Given the description of an element on the screen output the (x, y) to click on. 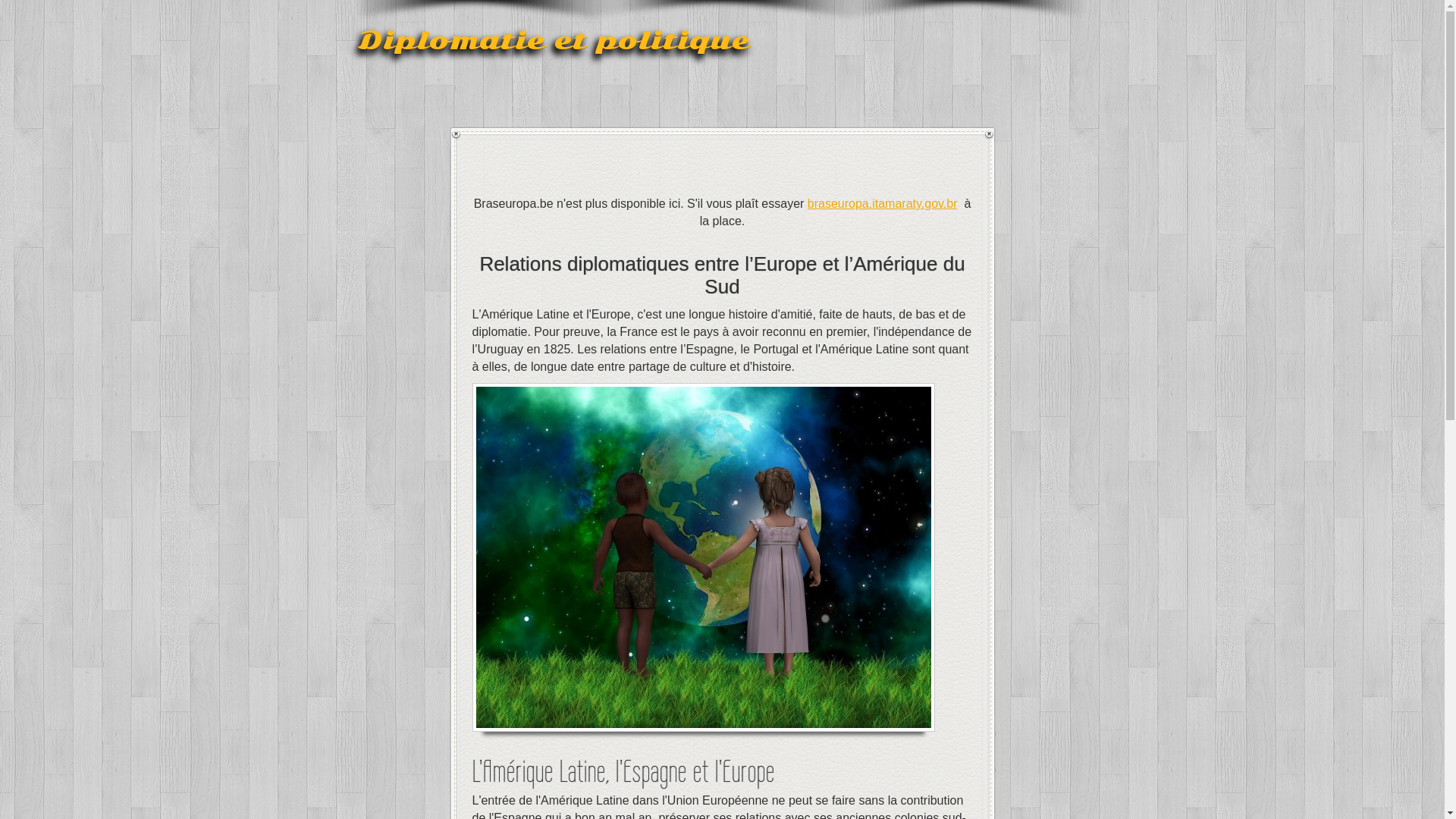
braseuropa.itamaraty.gov.br Element type: text (882, 203)
Diplomatie et politique Element type: text (553, 40)
